Given the description of an element on the screen output the (x, y) to click on. 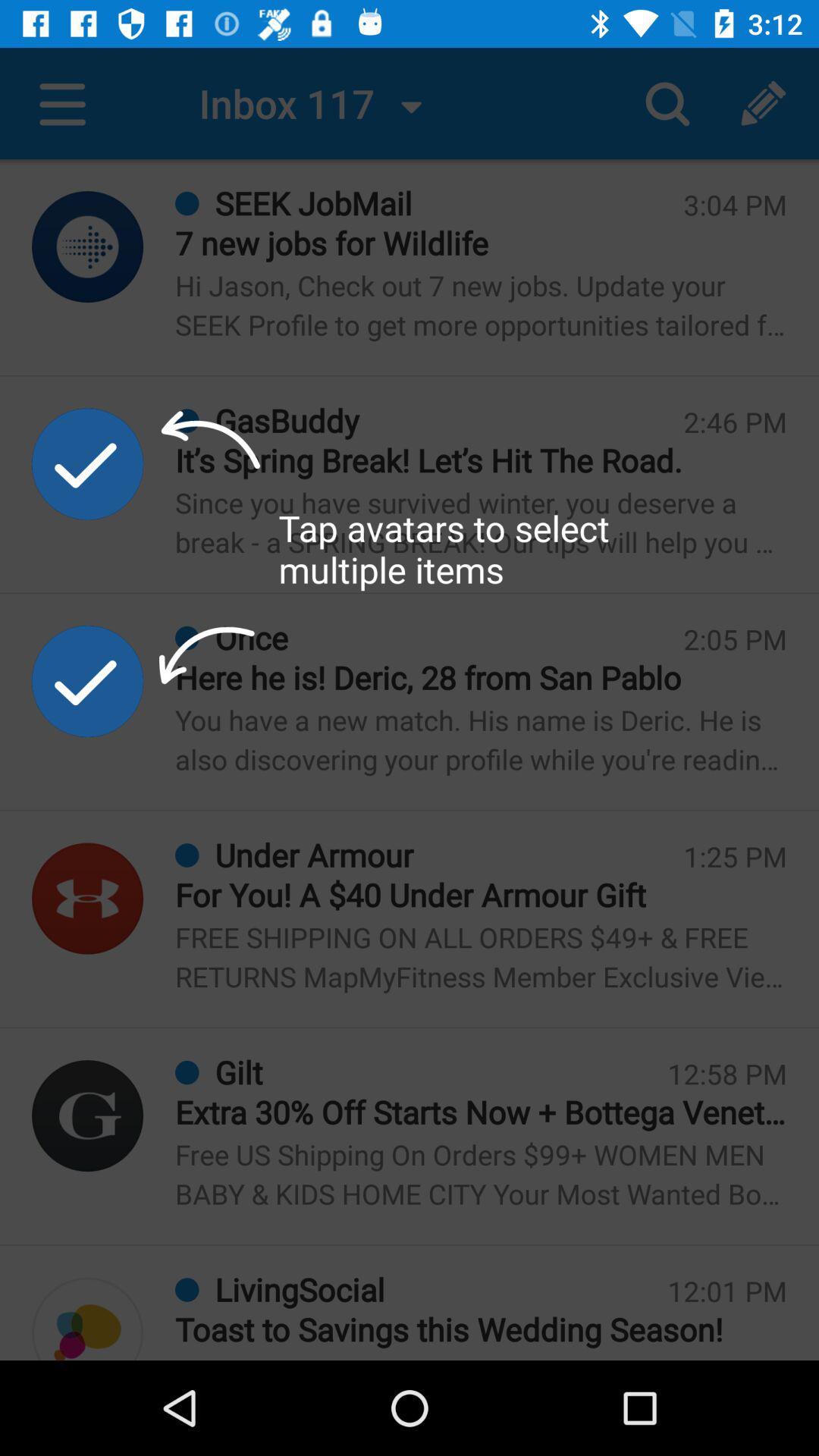
gilt information (87, 1115)
